Given the description of an element on the screen output the (x, y) to click on. 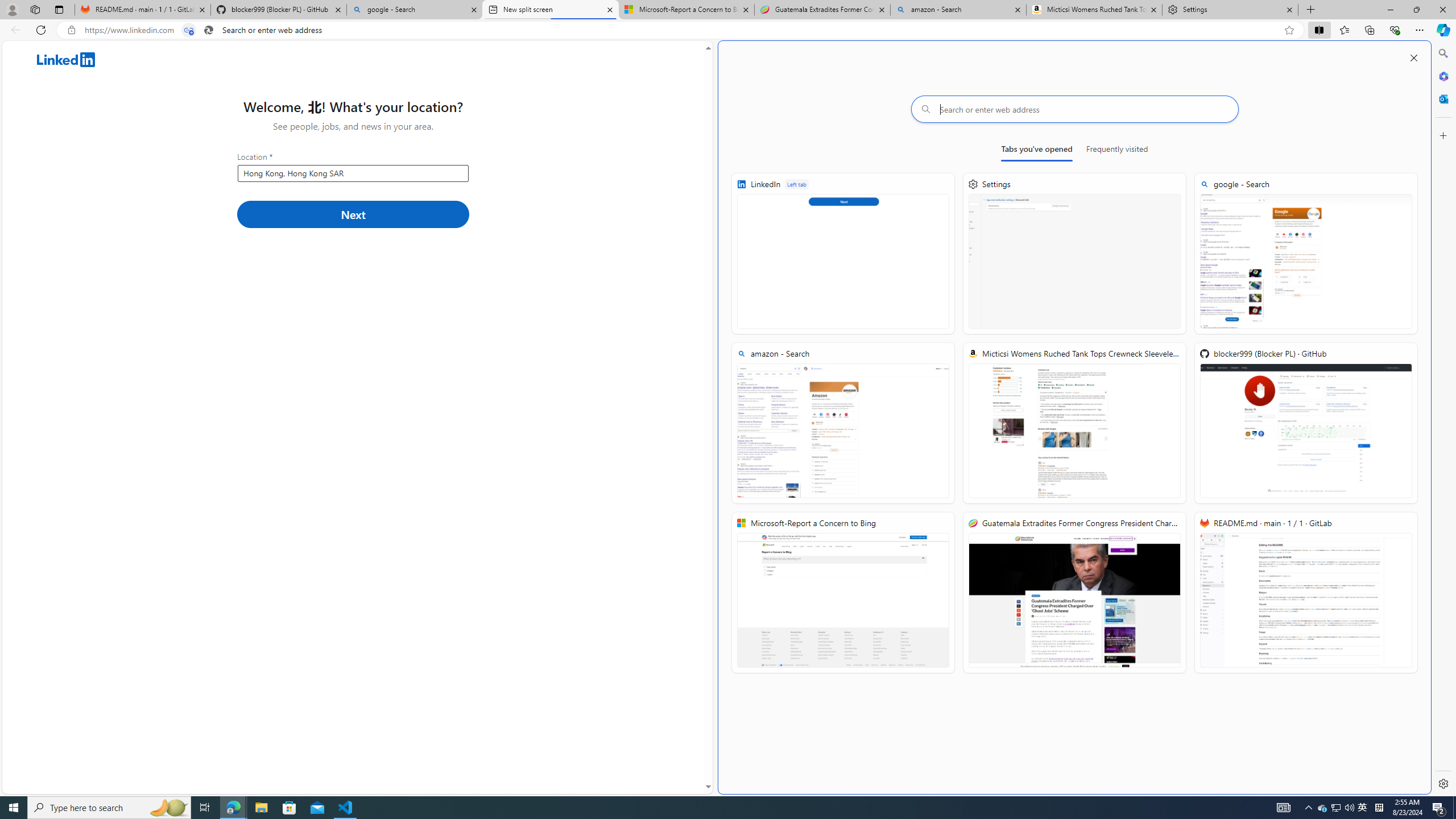
google - Search (1305, 253)
New split screen (550, 9)
google - Search (414, 9)
Outlook (1442, 98)
amazon - Search (957, 9)
